Given the description of an element on the screen output the (x, y) to click on. 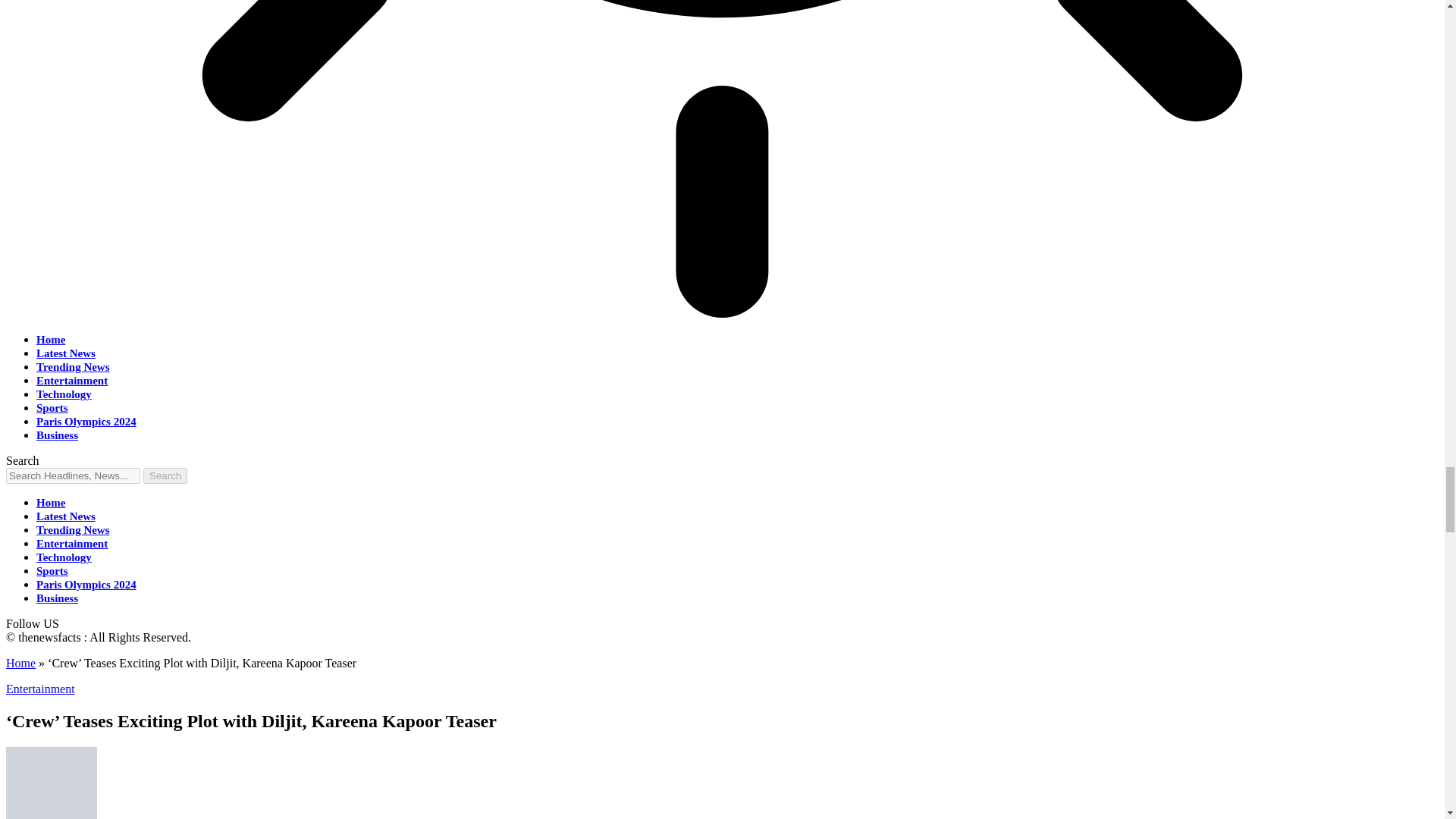
Business (57, 598)
Technology (63, 557)
Sports (52, 408)
Paris Olympics 2024 (86, 584)
Entertainment (71, 543)
Search (164, 475)
Home (19, 662)
Trending News (73, 530)
Sports (52, 571)
Home (50, 502)
